Given the description of an element on the screen output the (x, y) to click on. 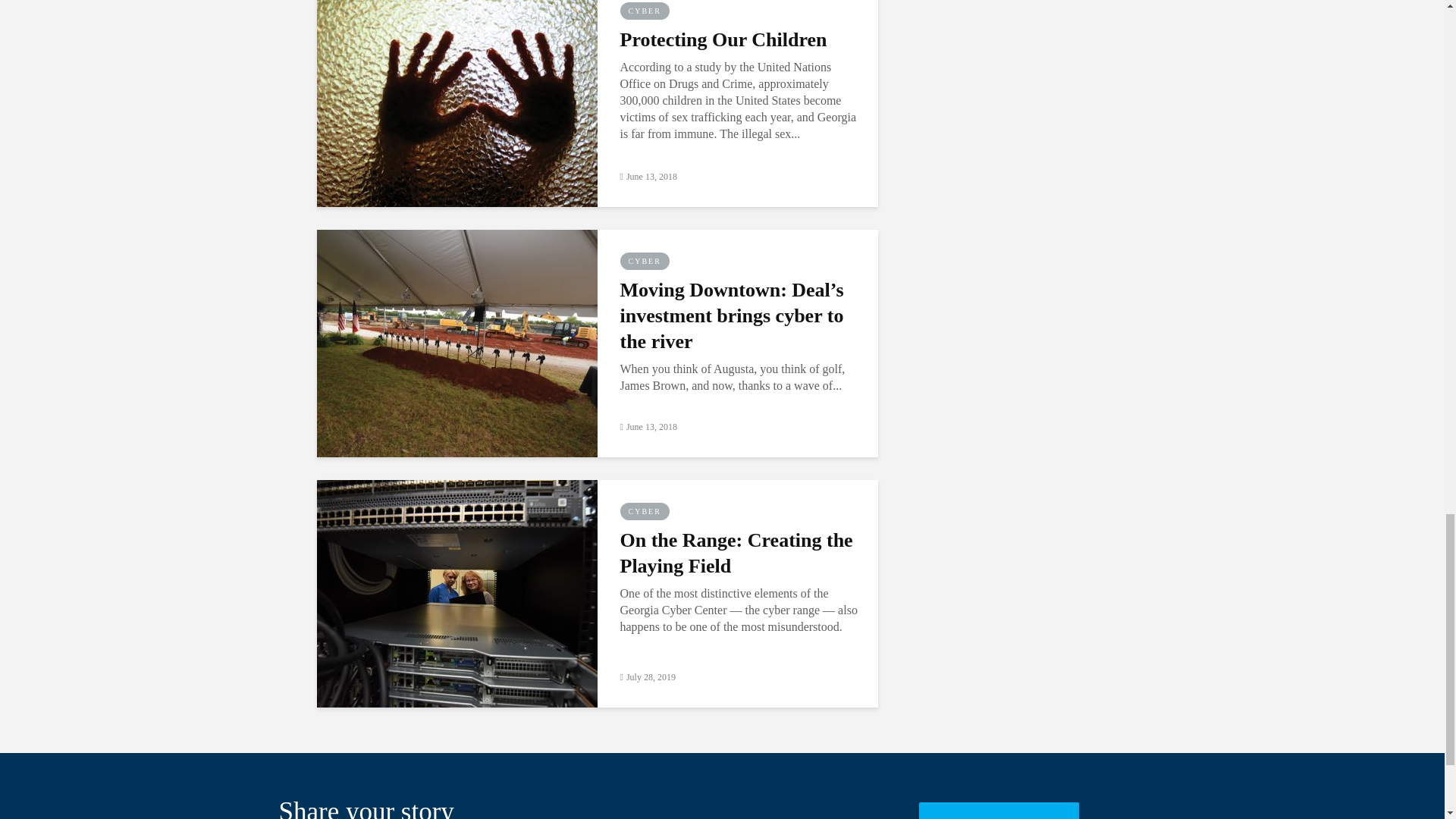
On the Range: Creating the Playing Field (456, 591)
Protecting Our Children (456, 91)
